Given the description of an element on the screen output the (x, y) to click on. 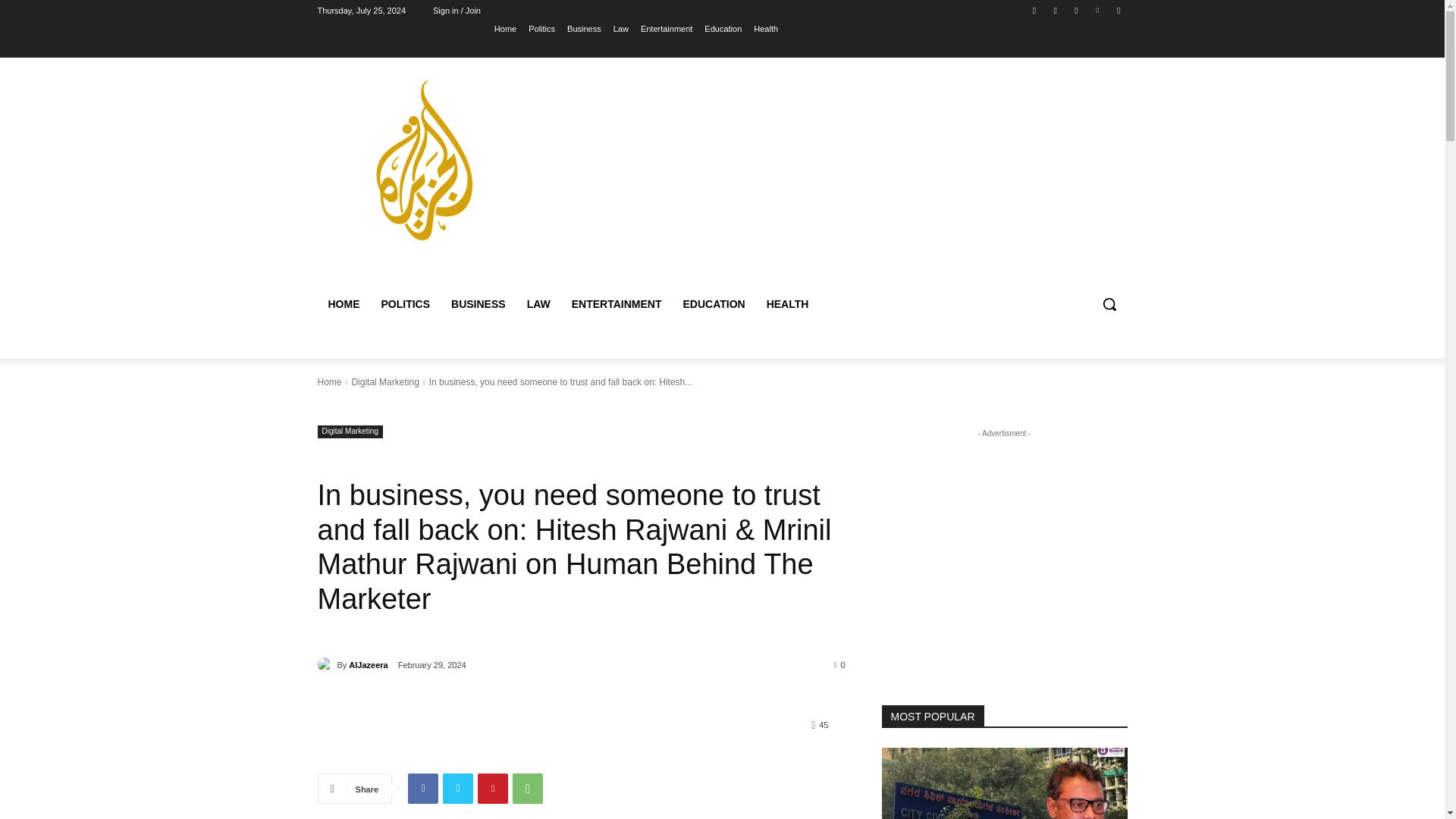
Home (328, 381)
Vimeo (1097, 9)
Home (505, 28)
POLITICS (405, 303)
0 (839, 664)
Education (722, 28)
LAW (538, 303)
Twitter (1075, 9)
ENTERTAINMENT (616, 303)
EDUCATION (713, 303)
Politics (541, 28)
Facebook (422, 788)
WhatsApp (527, 788)
Pinterest (492, 788)
AlJazeera (326, 664)
